Given the description of an element on the screen output the (x, y) to click on. 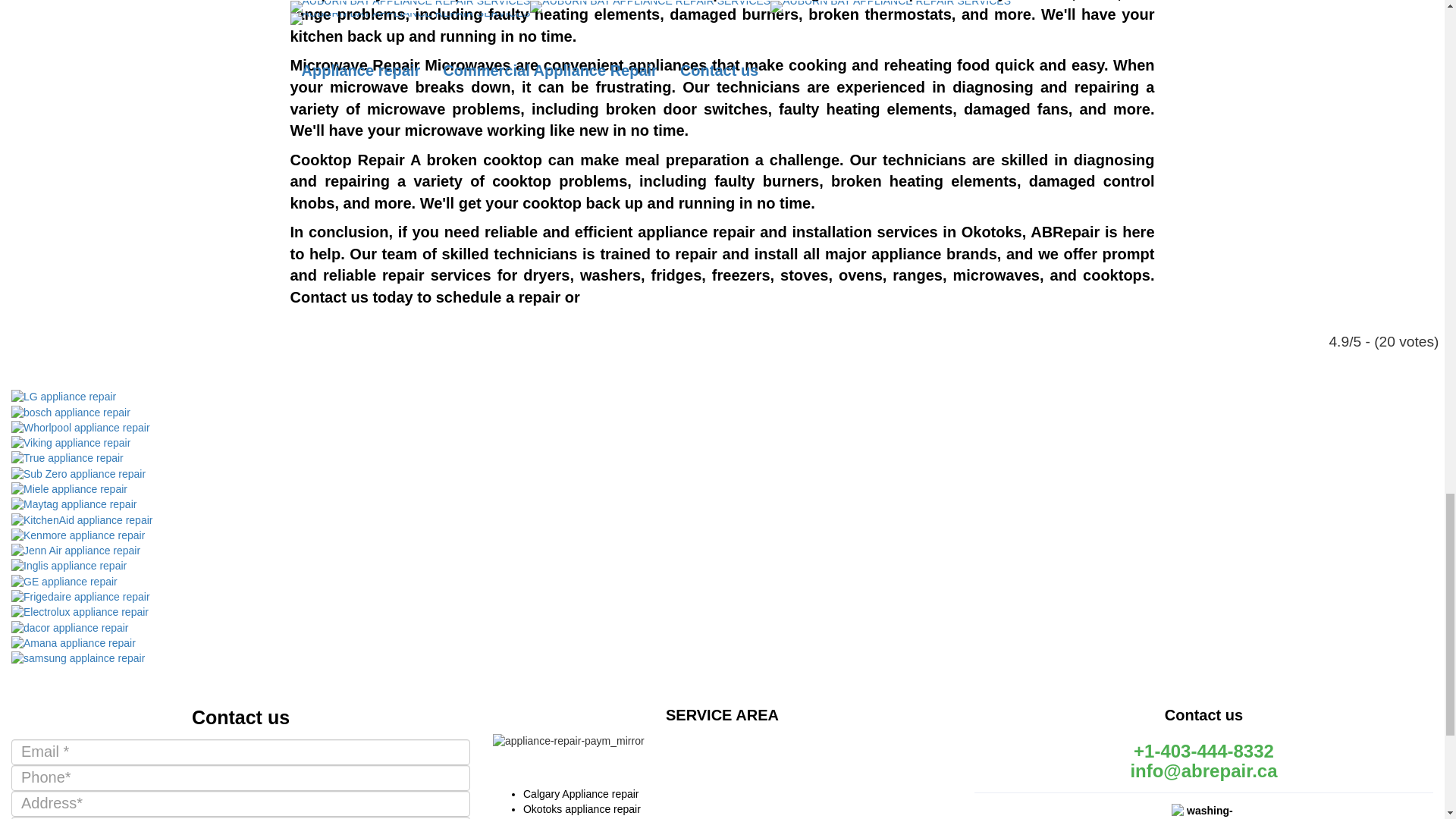
sub-zero appliance repair (78, 472)
whirlpool appliance repair (80, 427)
viking appliance repair (71, 442)
LG appliance repair (63, 396)
true appliance repair (67, 458)
Bosch appliance repair (71, 411)
